Given the description of an element on the screen output the (x, y) to click on. 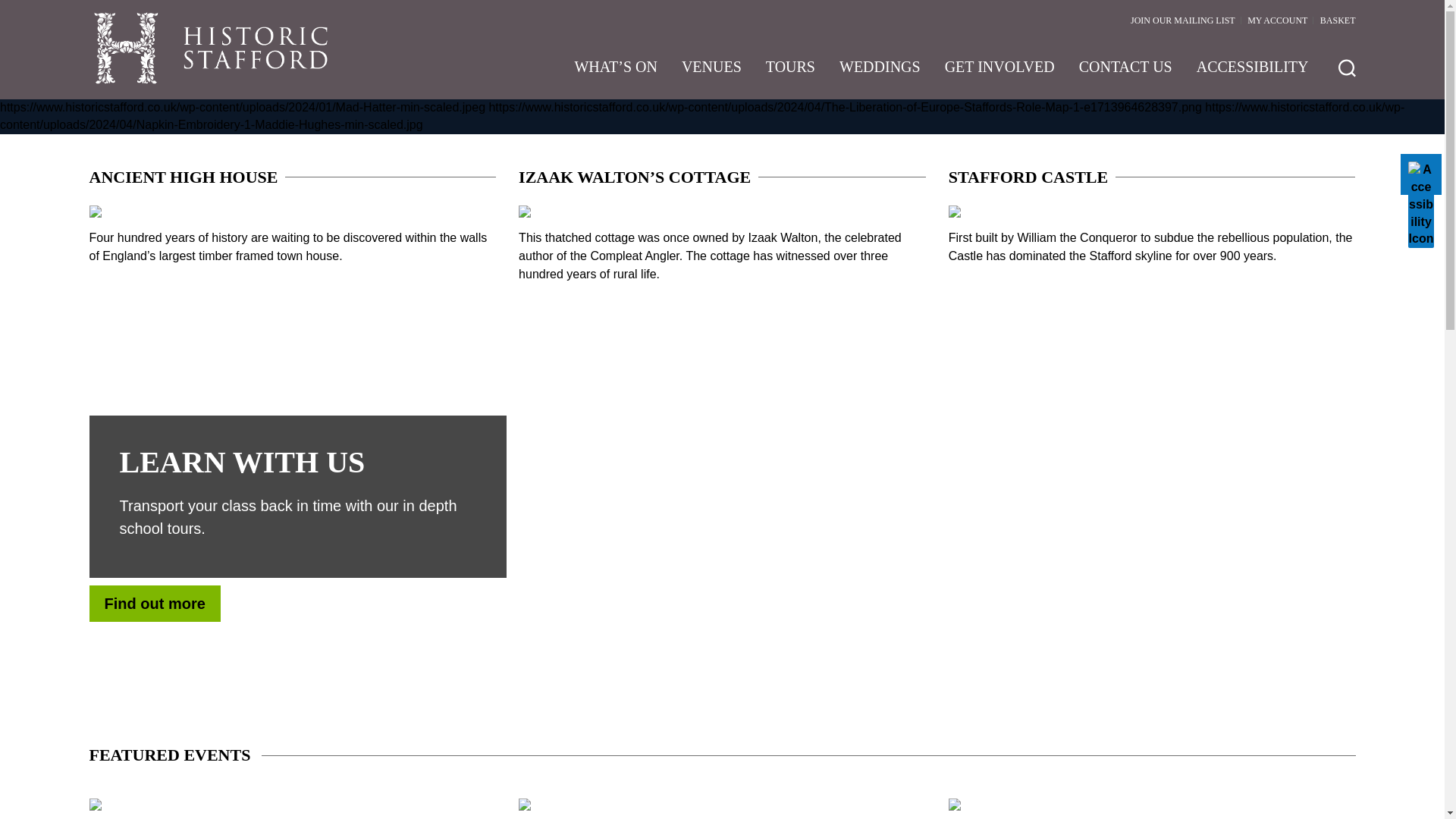
CONTACT US (1125, 74)
Get Involved (999, 74)
Join Our Mailing List (1182, 20)
WEDDINGS (880, 74)
My Account (1277, 20)
TOURS (790, 74)
Venues (711, 74)
MY ACCOUNT (1277, 20)
Weddings (880, 74)
GET INVOLVED (999, 74)
